Given the description of an element on the screen output the (x, y) to click on. 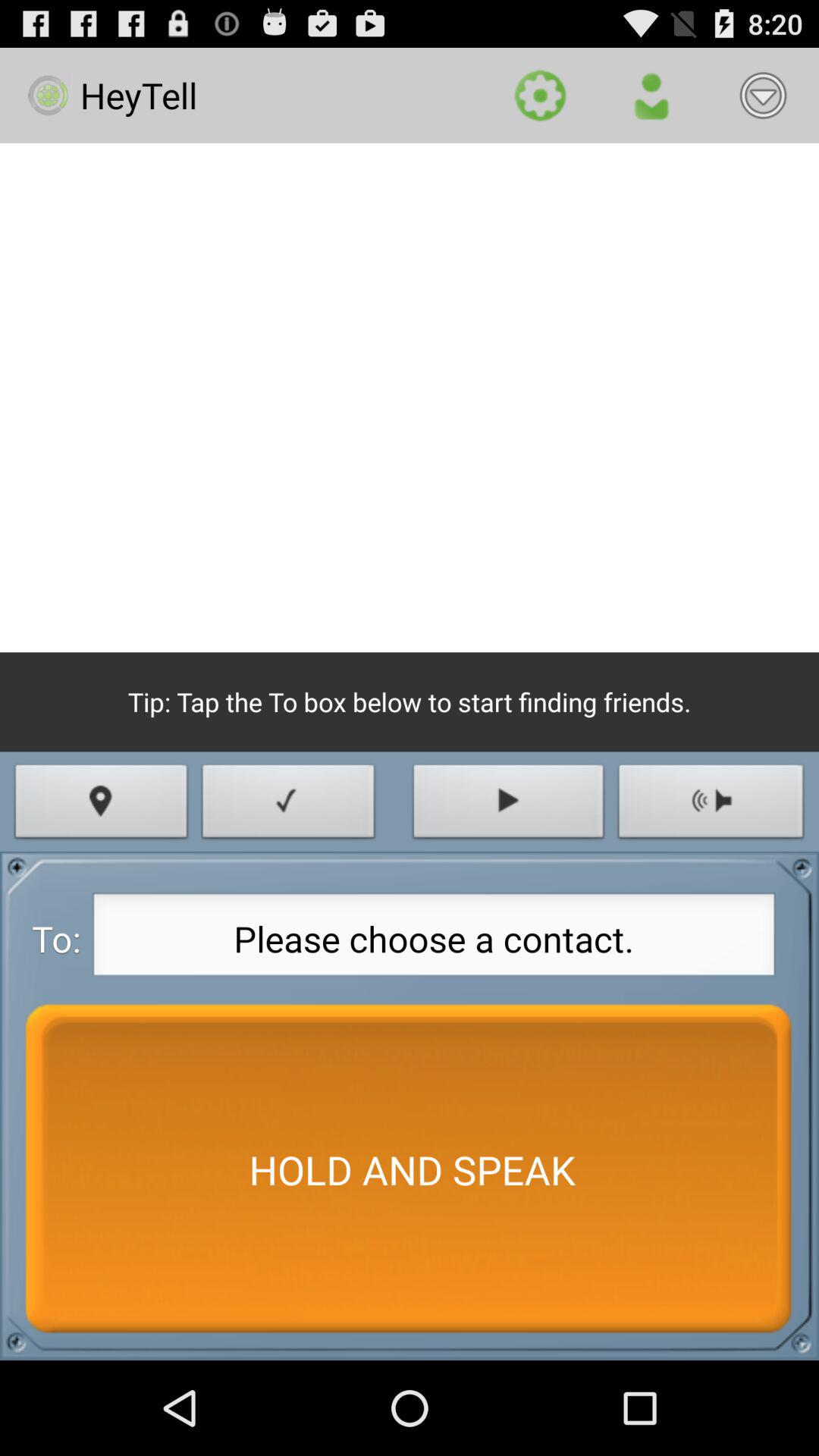
turn on icon above the please choose a icon (711, 805)
